Given the description of an element on the screen output the (x, y) to click on. 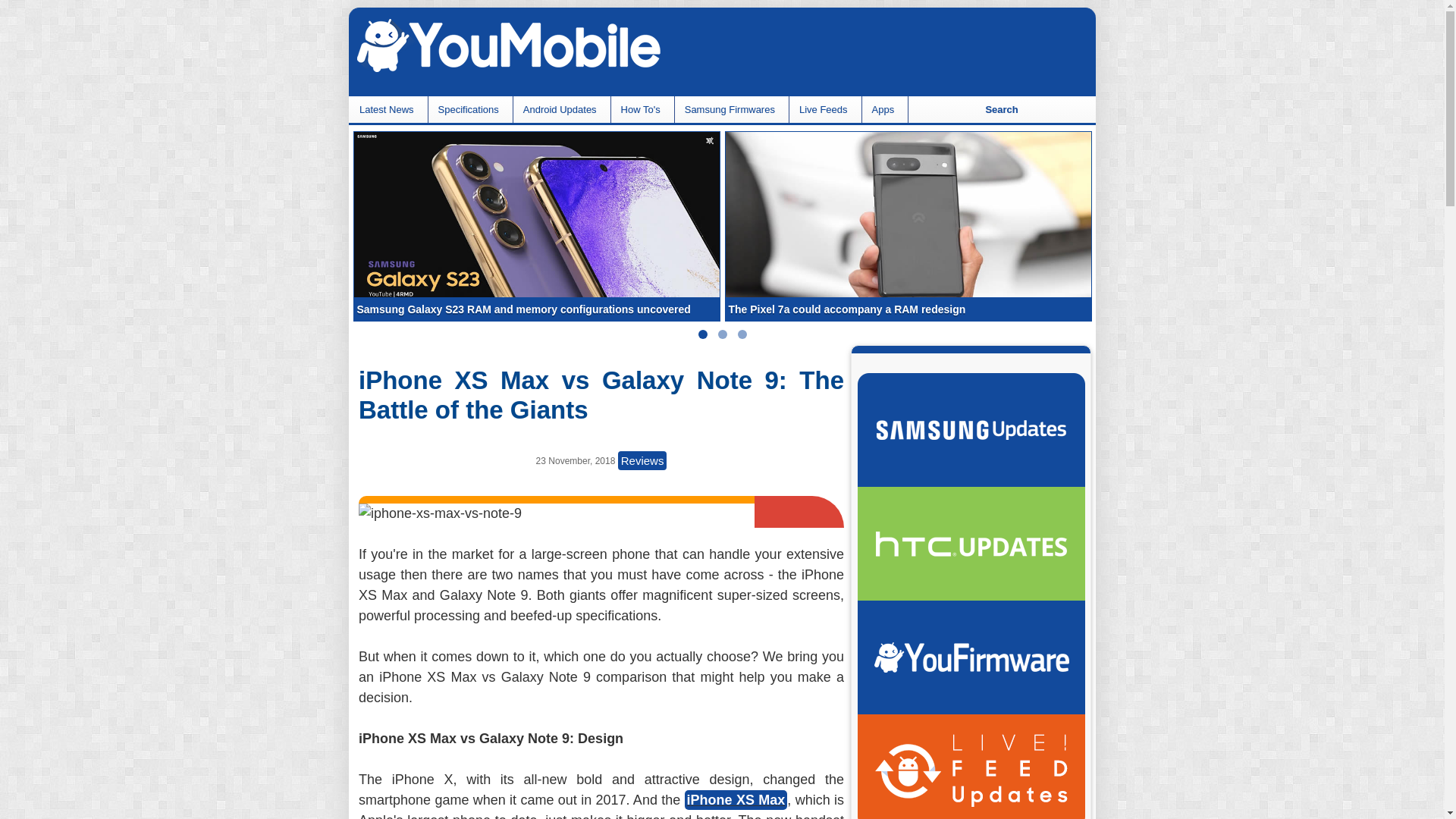
Search (1001, 109)
Live Feeds (825, 109)
Latest News (388, 109)
The Pixel 7a could accompany a RAM redesign (907, 224)
How To's (642, 109)
Samsung Firmwares (731, 109)
Apps (884, 109)
iphone-xs-max-vs-note-9 (439, 513)
Android Updates (561, 109)
All Android Updates (970, 766)
Samsung Galaxy S23 RAM and memory configurations uncovered (536, 224)
Specifications (470, 109)
